Given the description of an element on the screen output the (x, y) to click on. 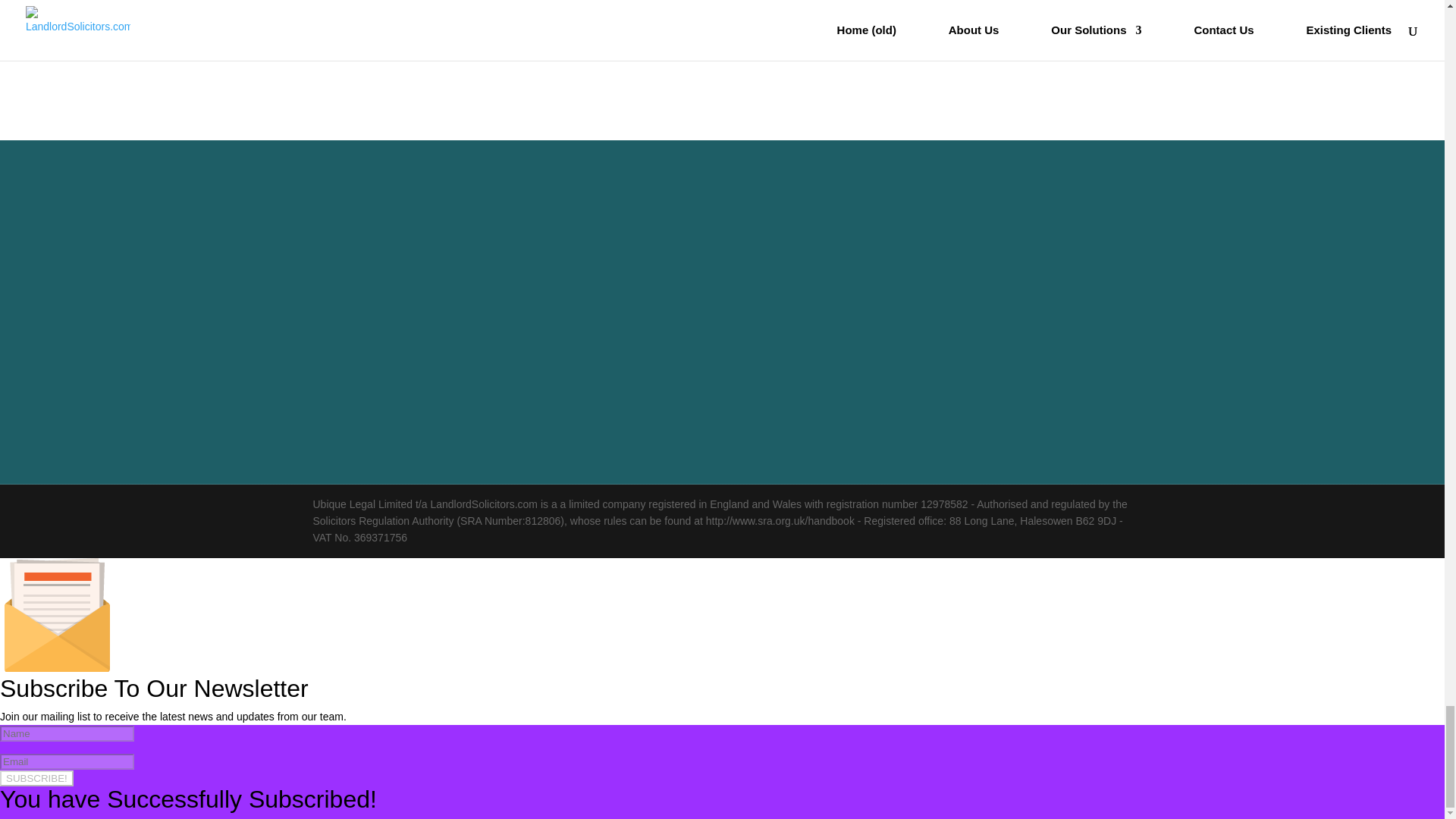
SUBSCRIBE! (37, 778)
